Given the description of an element on the screen output the (x, y) to click on. 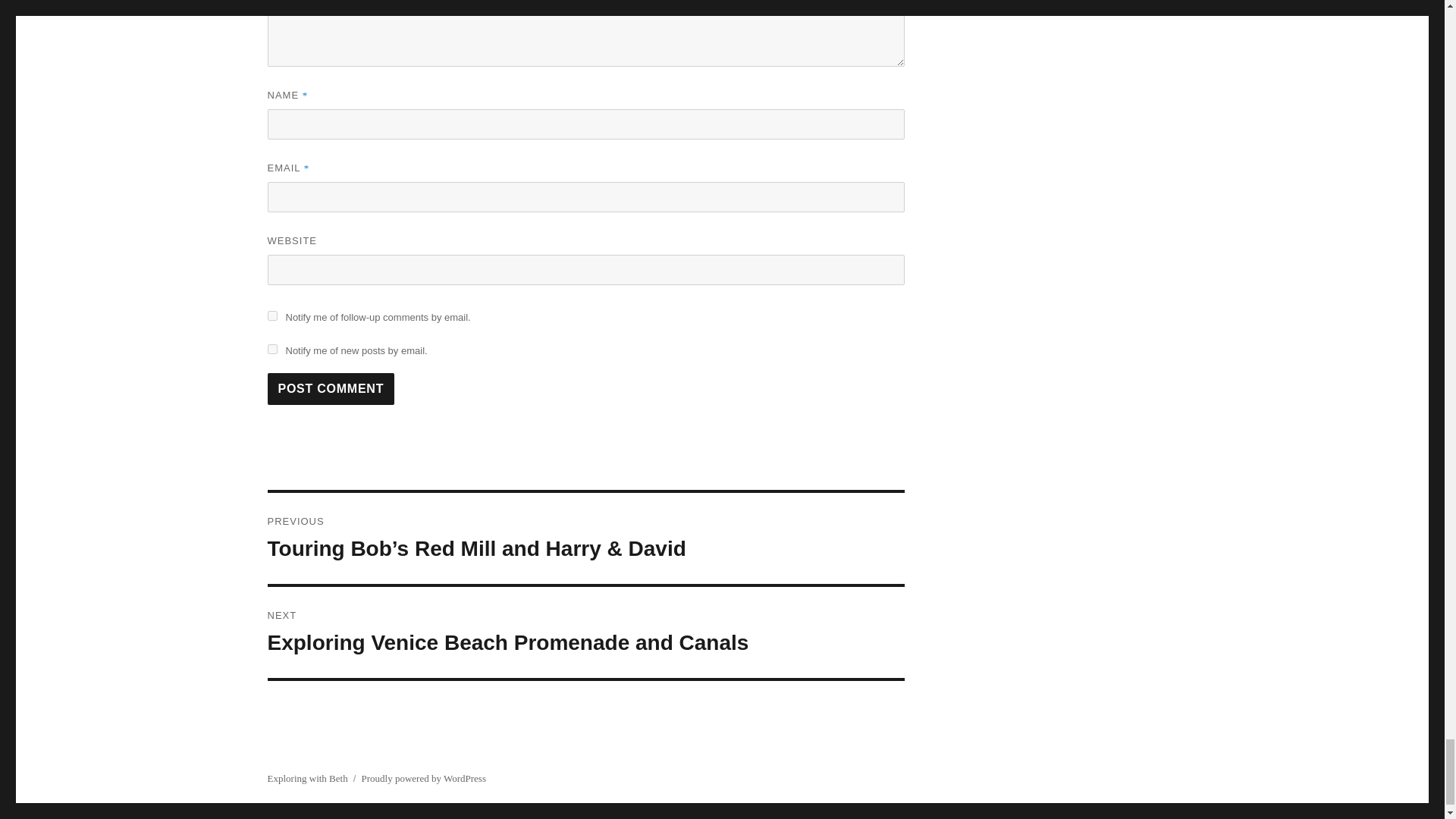
Post Comment (330, 388)
subscribe (271, 348)
Post Comment (330, 388)
subscribe (271, 316)
